Given the description of an element on the screen output the (x, y) to click on. 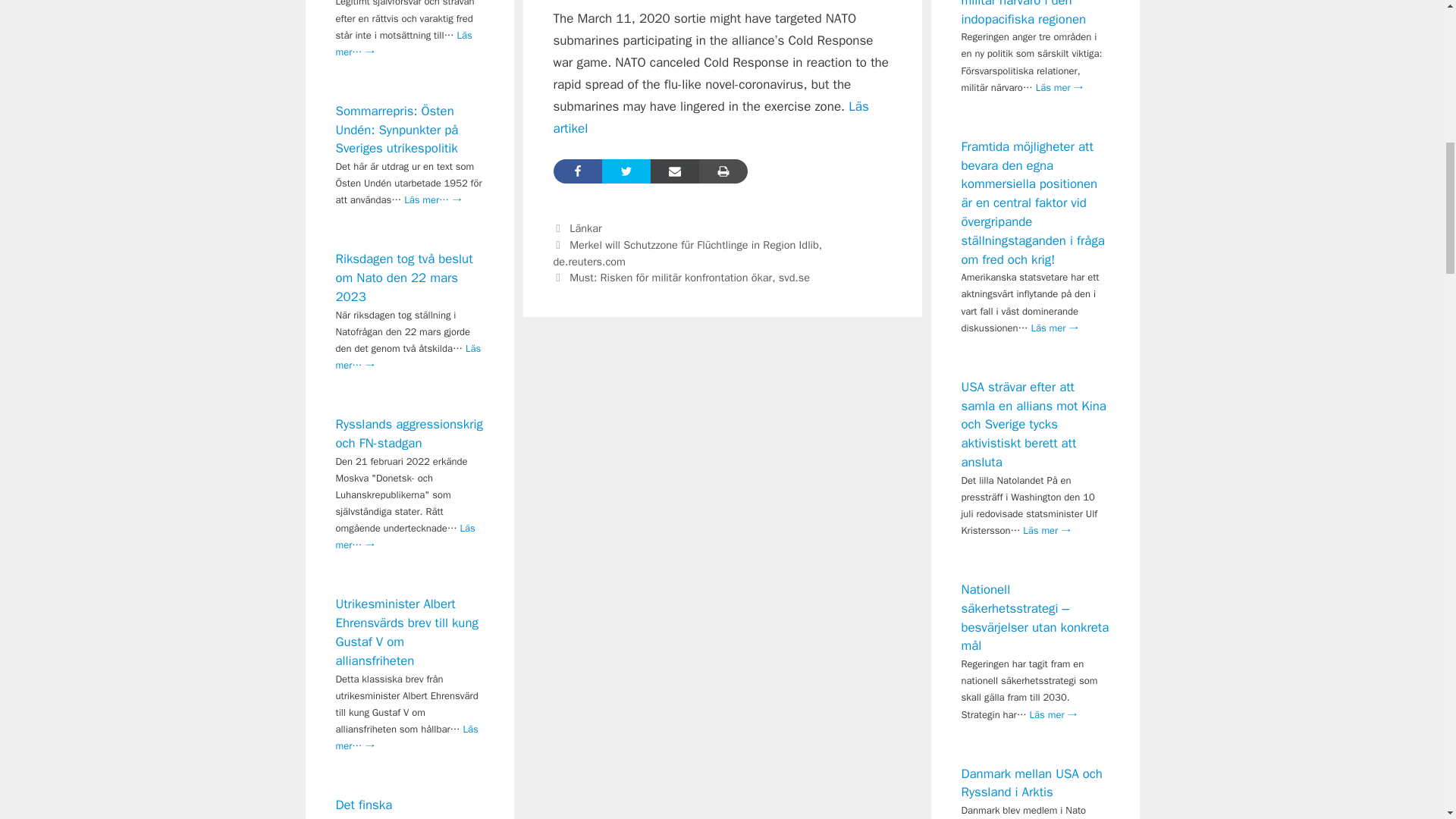
Share via Email (674, 170)
Share on Facebook (577, 170)
Rysslands aggressionskrig och FN-stadgan (407, 433)
Share on Twitter (626, 170)
Print this Page (723, 170)
